Given the description of an element on the screen output the (x, y) to click on. 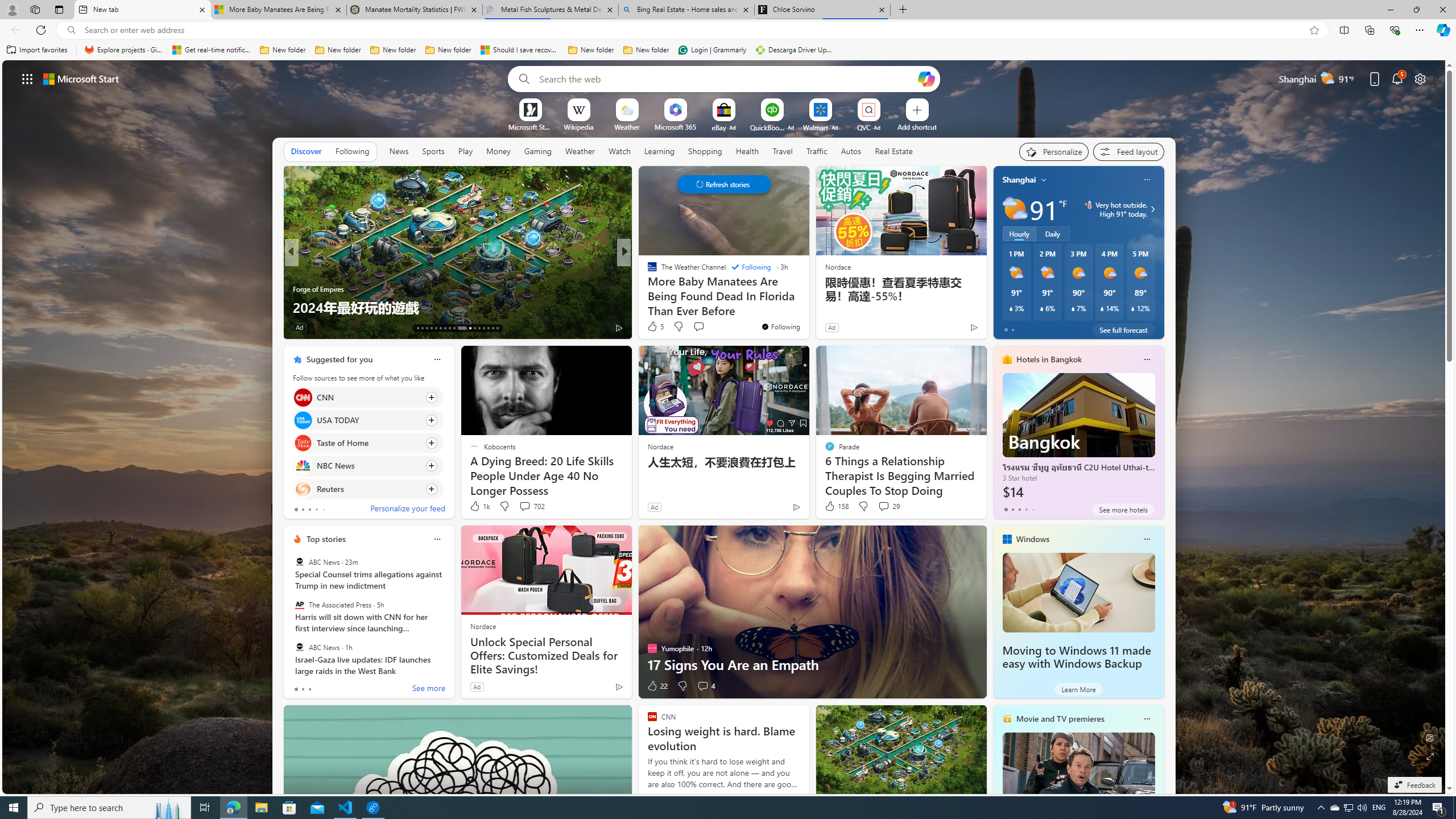
AutomationID: tab-41 (492, 328)
Bing Real Estate - Home sales and rental listings (685, 9)
tab-1 (302, 689)
Real Estate (893, 151)
Sports (432, 151)
Click to follow source USA TODAY (367, 419)
Personalize your feed (407, 509)
Ad (476, 686)
Movie and TV premieres (1060, 718)
AutomationID: tab-18 (440, 328)
Gaming (537, 151)
